Given the description of an element on the screen output the (x, y) to click on. 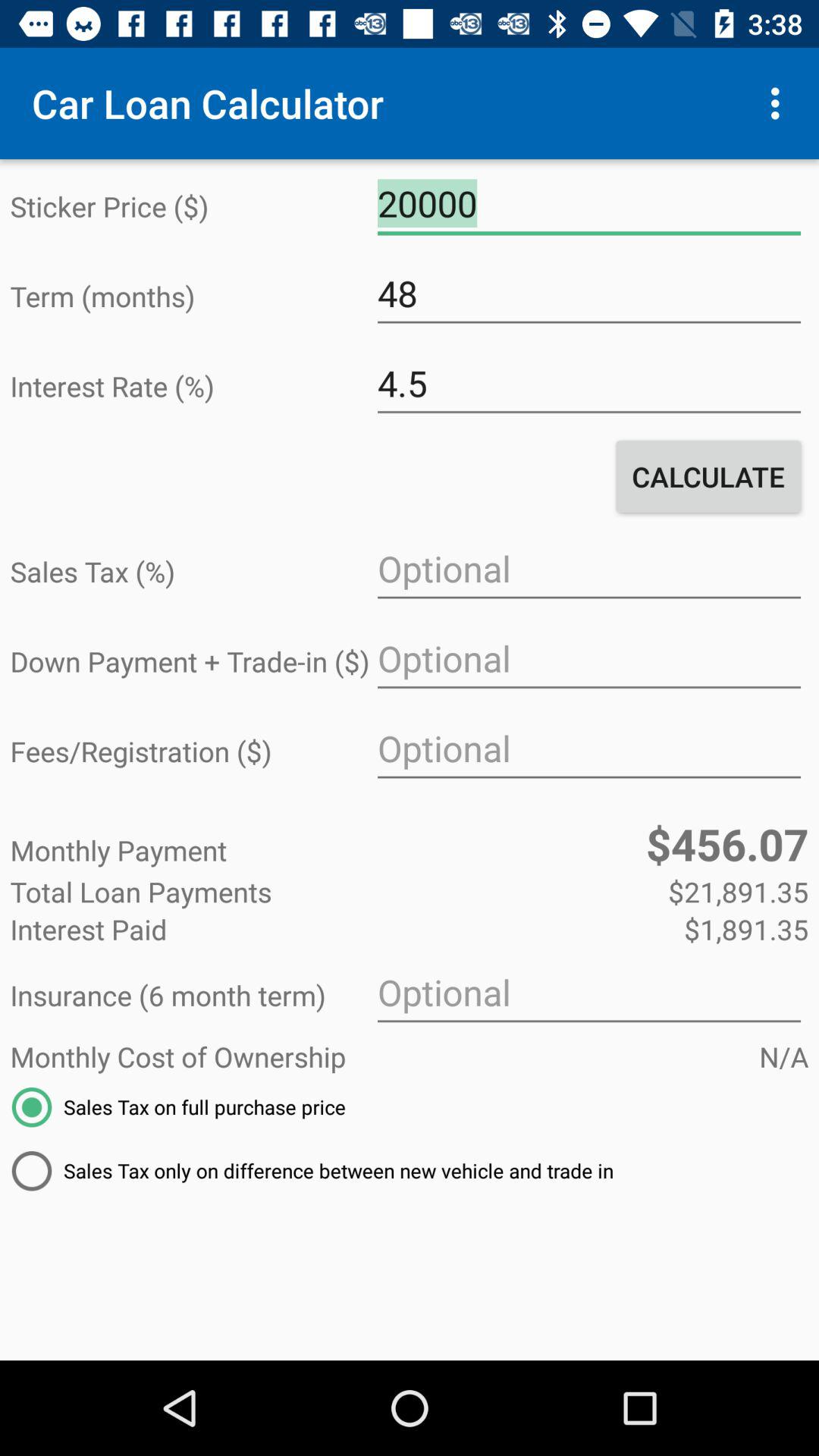
tap on the button calculate (708, 476)
